Given the description of an element on the screen output the (x, y) to click on. 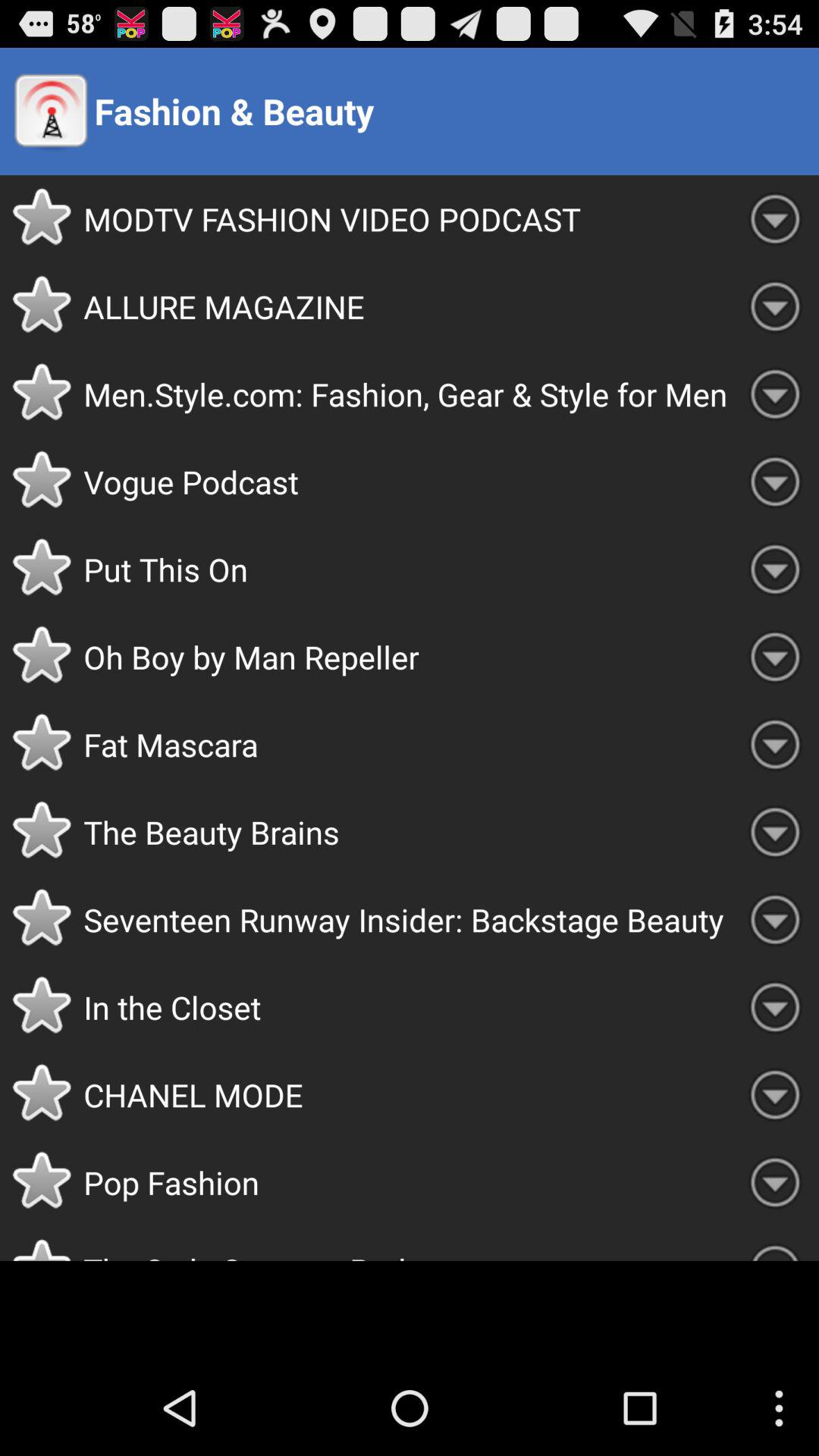
flip to the beauty brains app (407, 831)
